Given the description of an element on the screen output the (x, y) to click on. 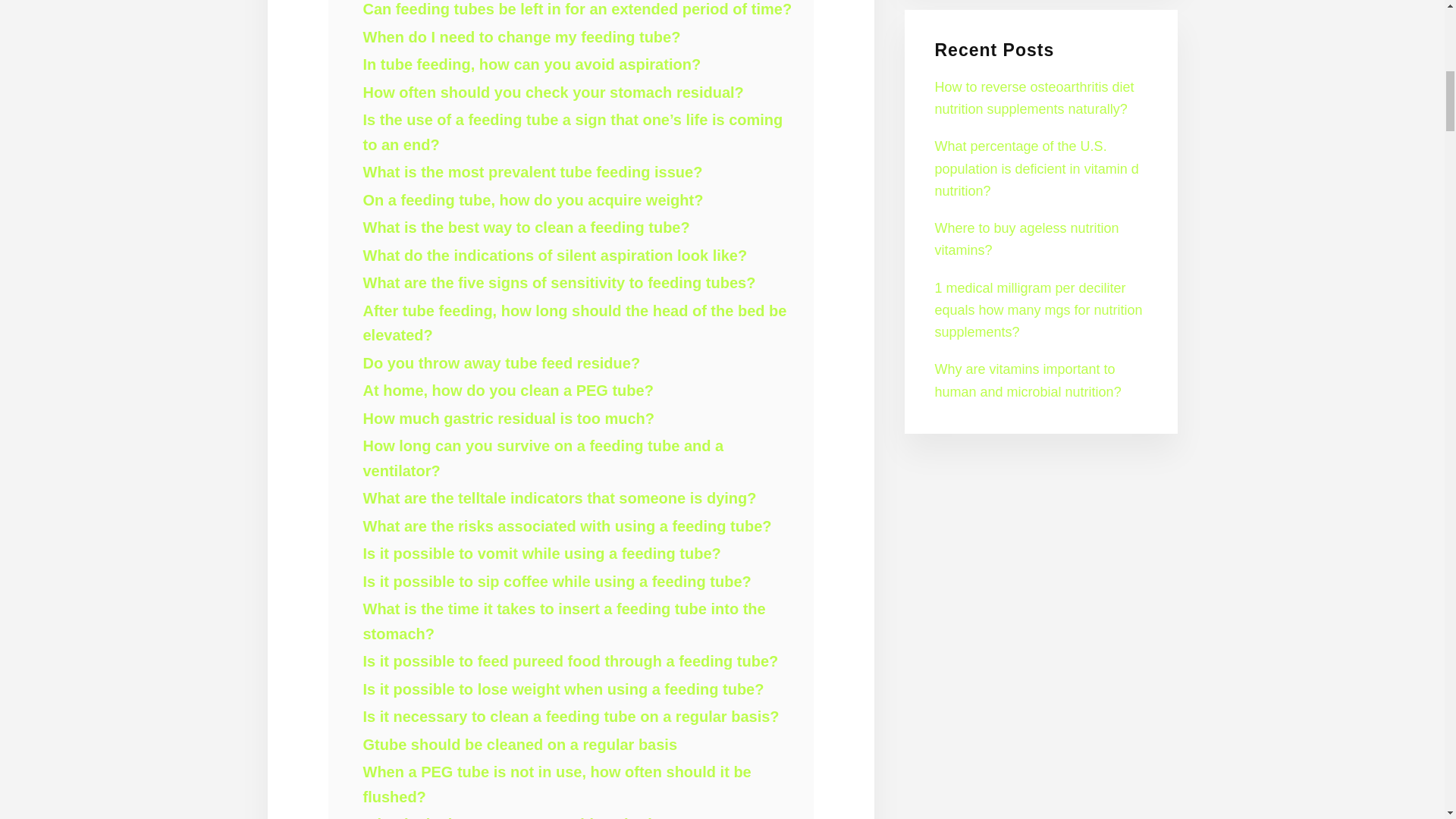
Can feeding tubes be left in for an extended period of time? (577, 8)
